Given the description of an element on the screen output the (x, y) to click on. 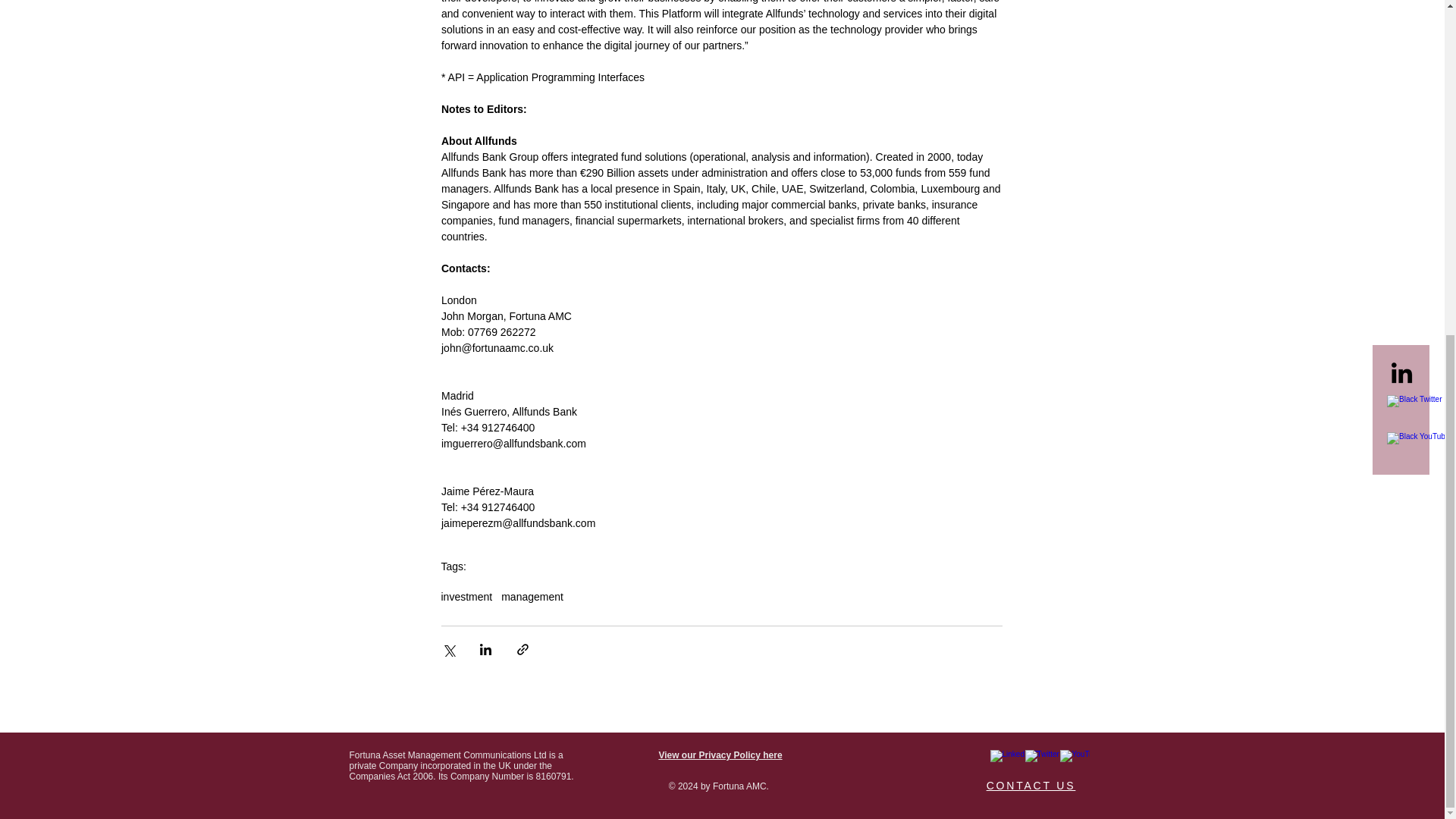
management (531, 596)
CONTACT US (1031, 785)
investment (467, 596)
View our Privacy Policy here (719, 755)
